Given the description of an element on the screen output the (x, y) to click on. 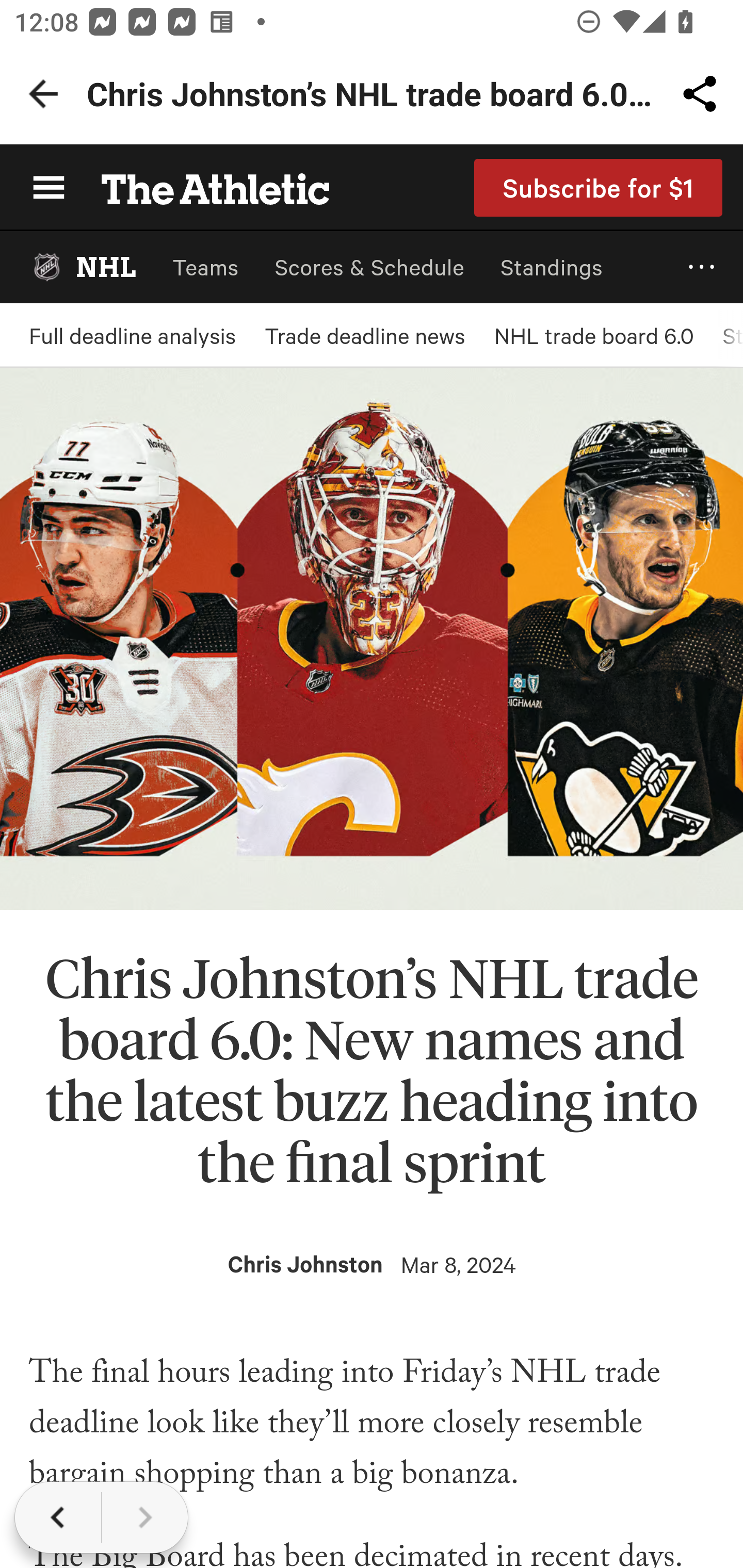
The Athletic (204, 187)
NHL NHL NHL NHL (82, 267)
Teams (205, 267)
Scores & Schedule (369, 267)
Standings (552, 267)
• • • (701, 267)
Full deadline analysis (132, 335)
Trade deadline news (364, 335)
NHL trade board 6.0 (593, 335)
Chris Johnston (305, 1264)
